Given the description of an element on the screen output the (x, y) to click on. 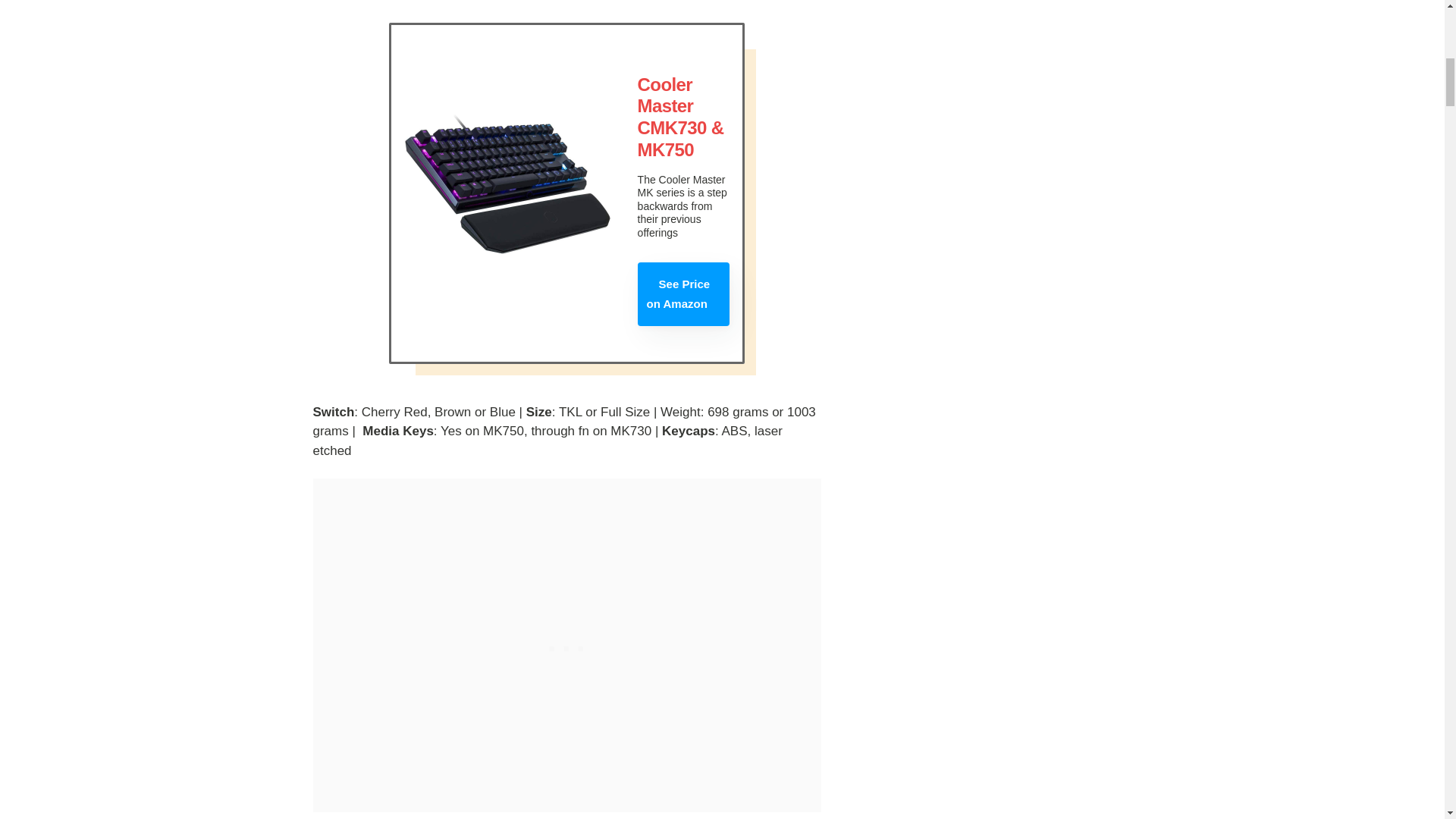
See Price on Amazon (683, 293)
